Given the description of an element on the screen output the (x, y) to click on. 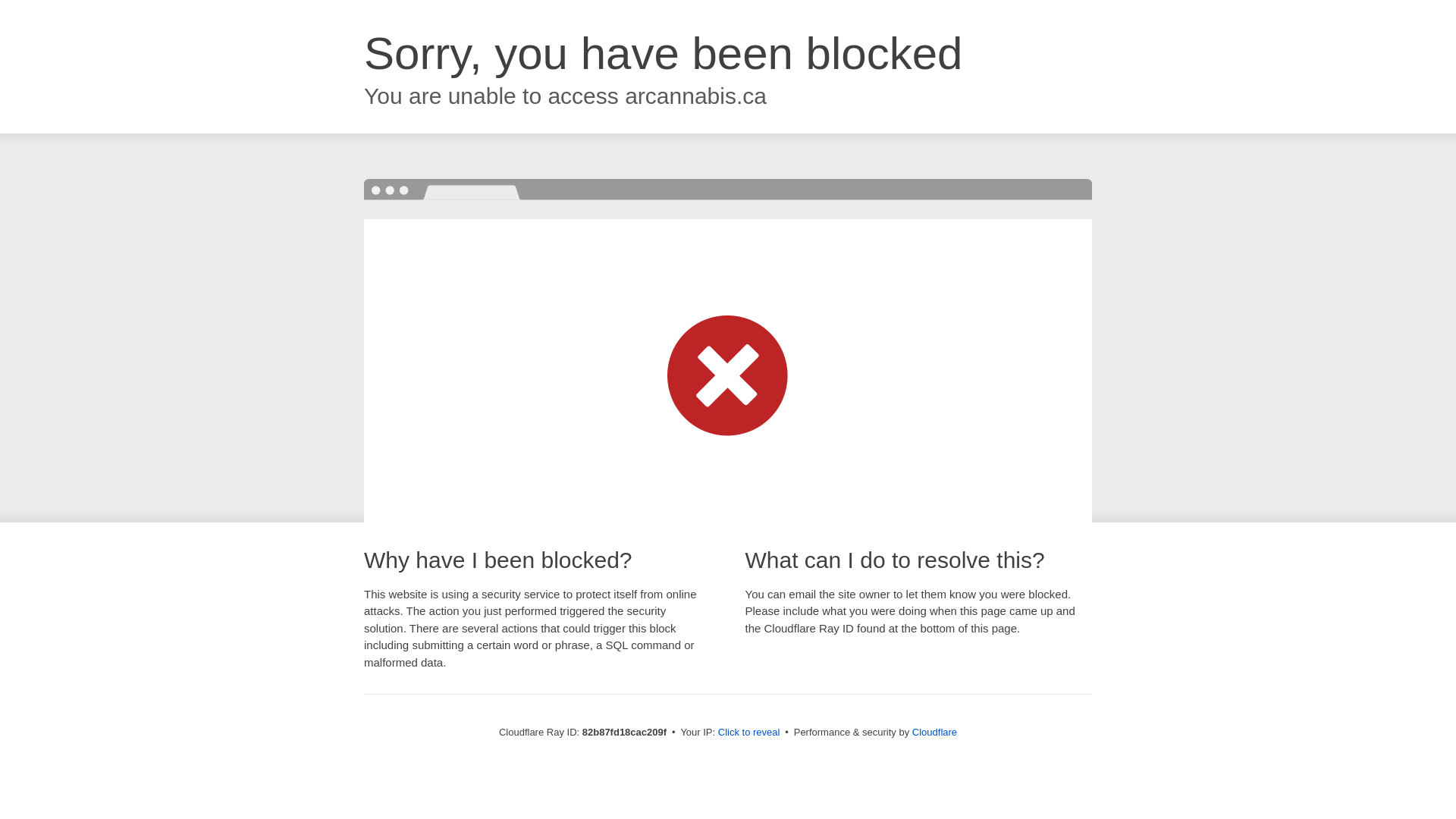
Cloudflare Element type: text (934, 731)
Click to reveal Element type: text (749, 732)
